Given the description of an element on the screen output the (x, y) to click on. 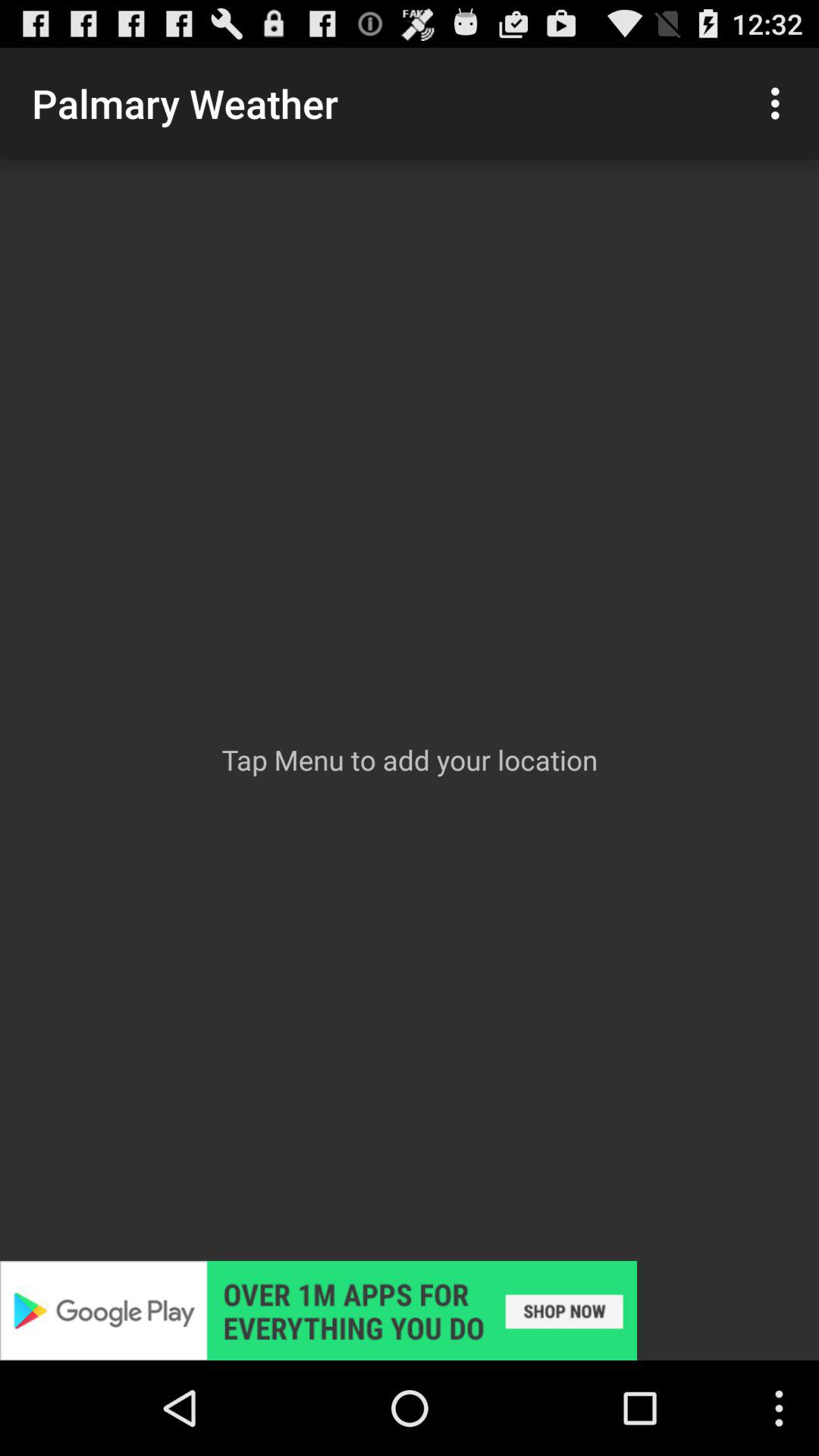
know about the information (409, 1310)
